Given the description of an element on the screen output the (x, y) to click on. 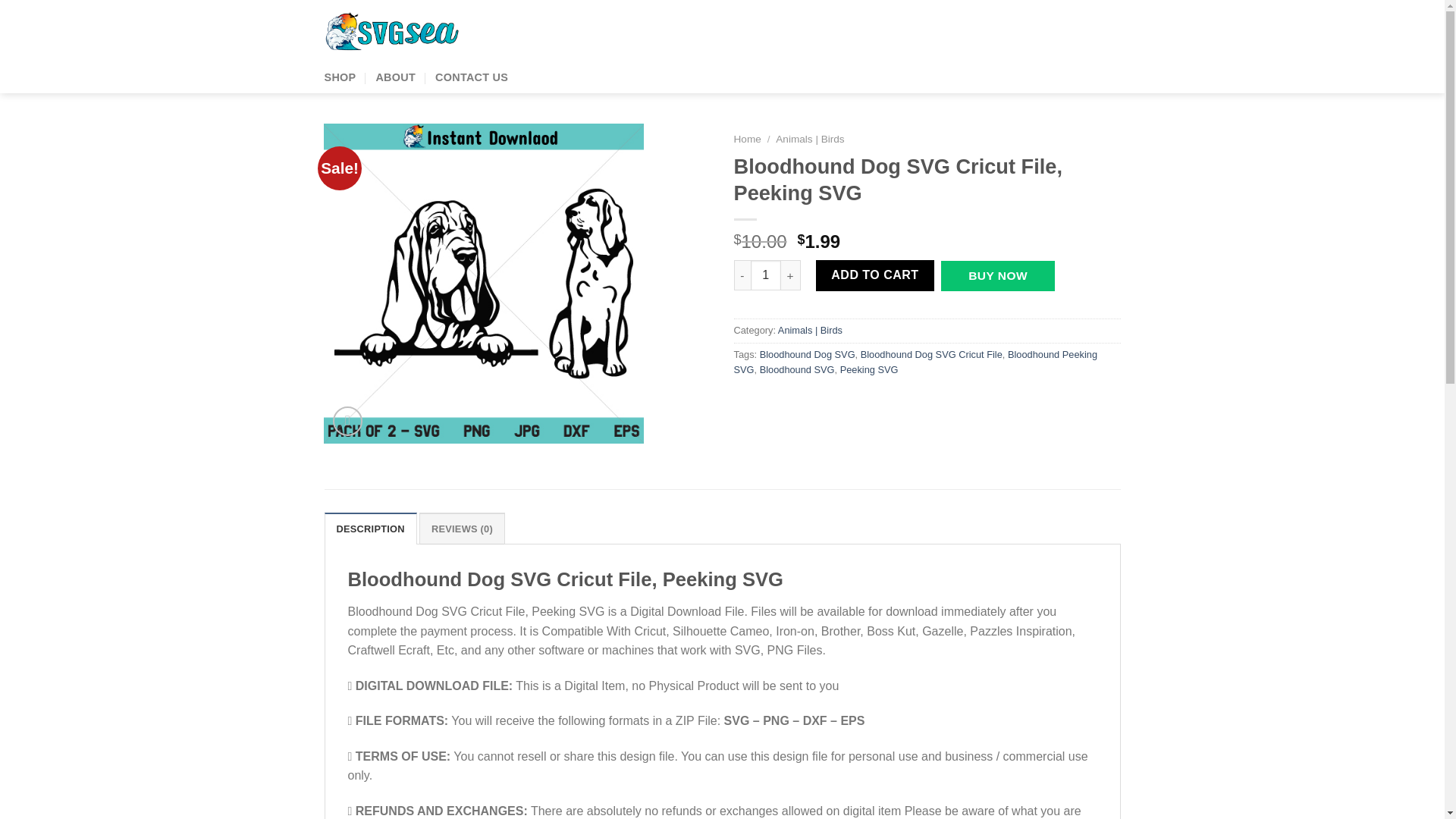
Bloodhound Dog SVG Cricut File (931, 354)
CONTACT US (471, 77)
Cart (1074, 32)
ABOUT (394, 77)
Zoom (347, 420)
Bloodhound Dog SVG Cricut File (483, 283)
Search (923, 32)
1 (765, 275)
BUY NOW (997, 276)
Bloodhound SVG (797, 369)
Bloodhound Dog SVG (808, 354)
SHOP (340, 77)
ADD TO CART (874, 275)
Bloodhound Peeking SVG (915, 361)
Home (747, 138)
